Given the description of an element on the screen output the (x, y) to click on. 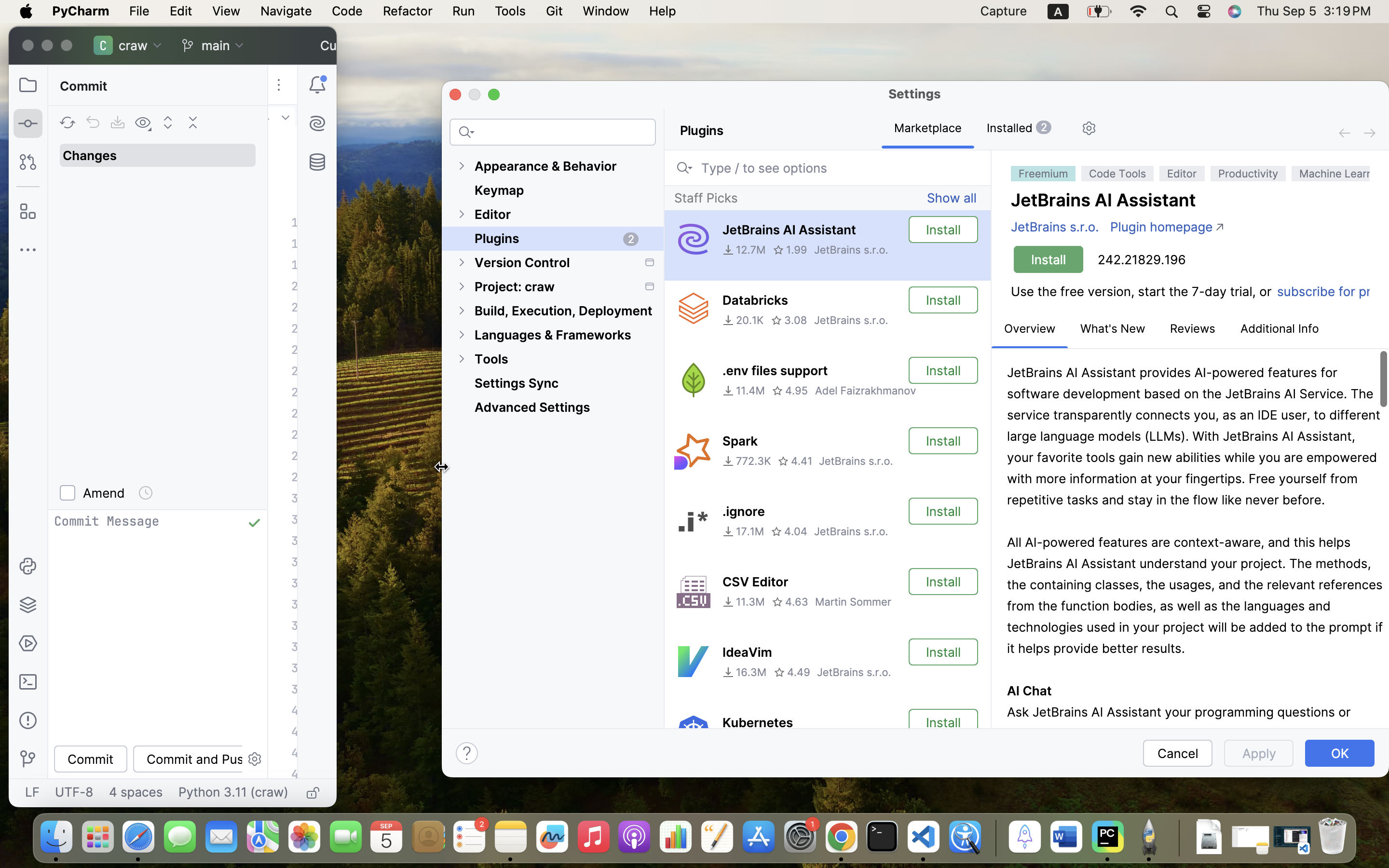
4.04 Element type: AXStaticText (788, 531)
Spark Element type: AXStaticText (740, 441)
16.3M Element type: AXStaticText (744, 671)
Databricks Element type: AXStaticText (755, 300)
11.4M Element type: AXStaticText (743, 390)
